Given the description of an element on the screen output the (x, y) to click on. 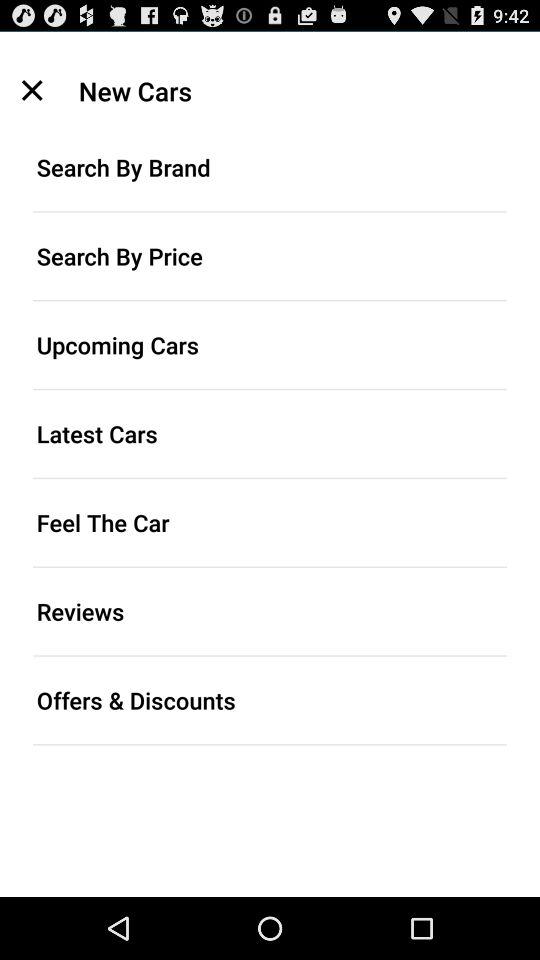
turn off icon next to new cars (32, 90)
